Given the description of an element on the screen output the (x, y) to click on. 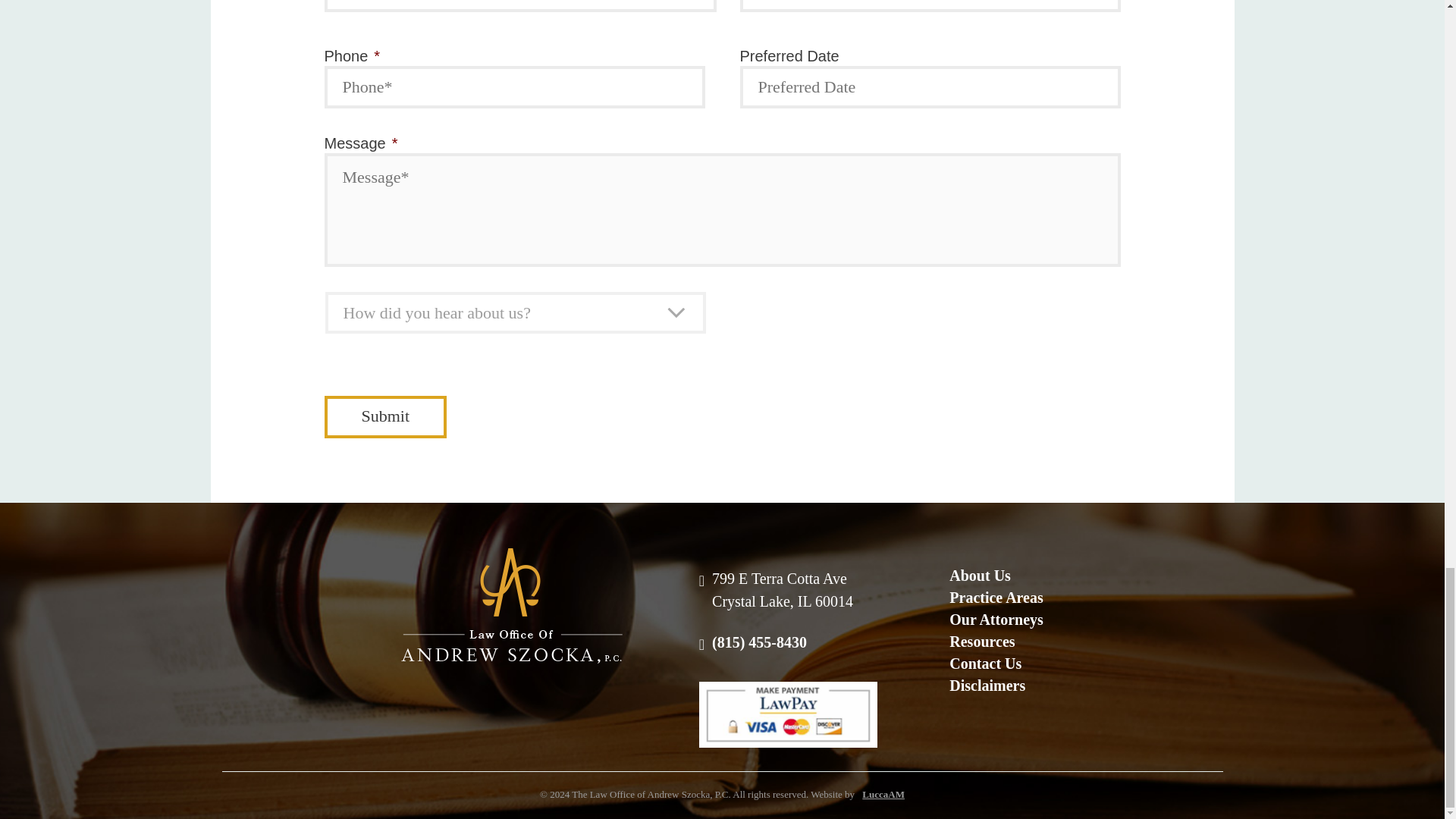
Contact Us (996, 663)
footer-logo (512, 605)
Submit (385, 416)
Our Attorneys (996, 619)
Submit (385, 416)
footer Practice Areas (996, 597)
footer Our Attorneys (996, 619)
Disclaimers (996, 685)
About Us (996, 575)
Resources (996, 641)
